Given the description of an element on the screen output the (x, y) to click on. 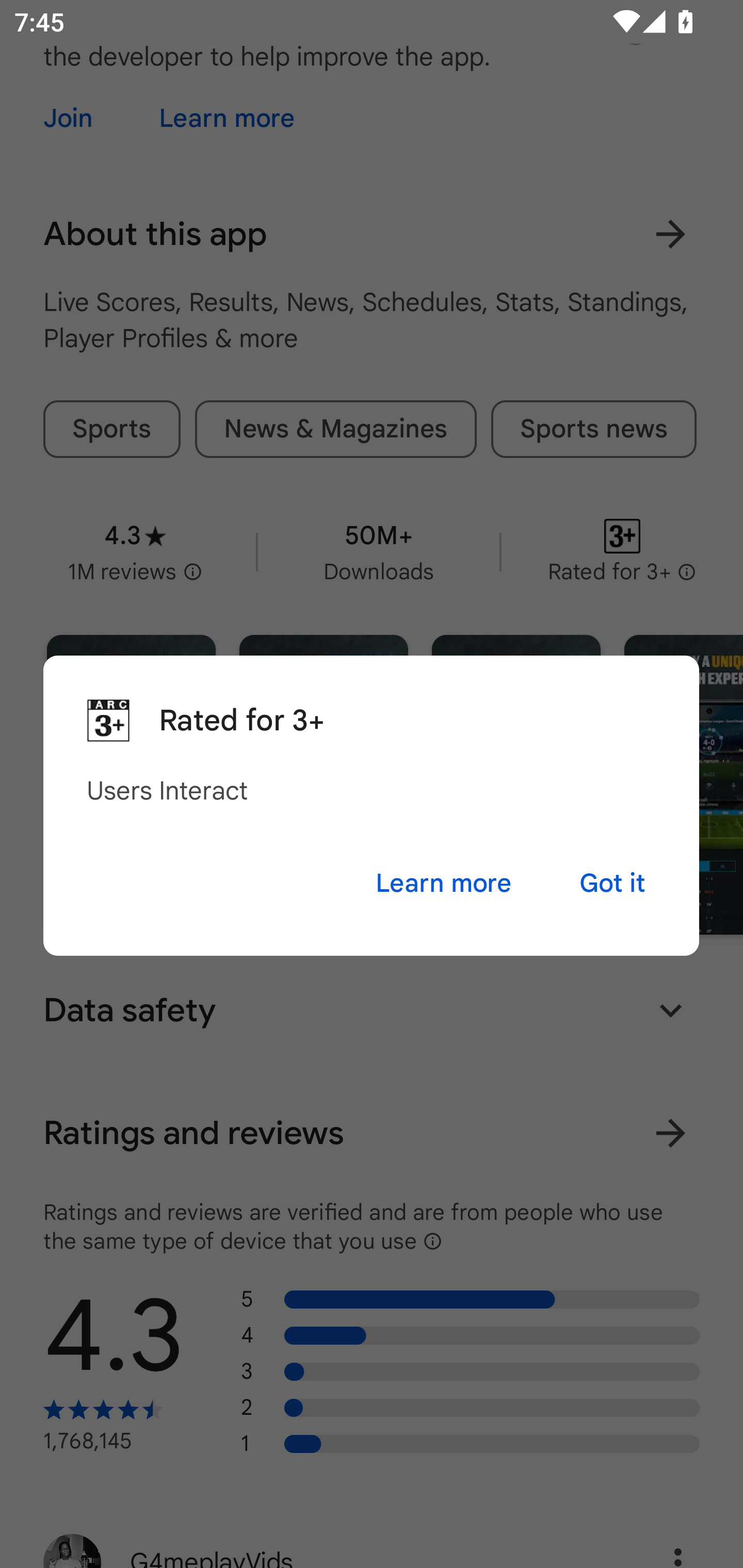
Learn more (443, 883)
Got it (612, 883)
